Given the description of an element on the screen output the (x, y) to click on. 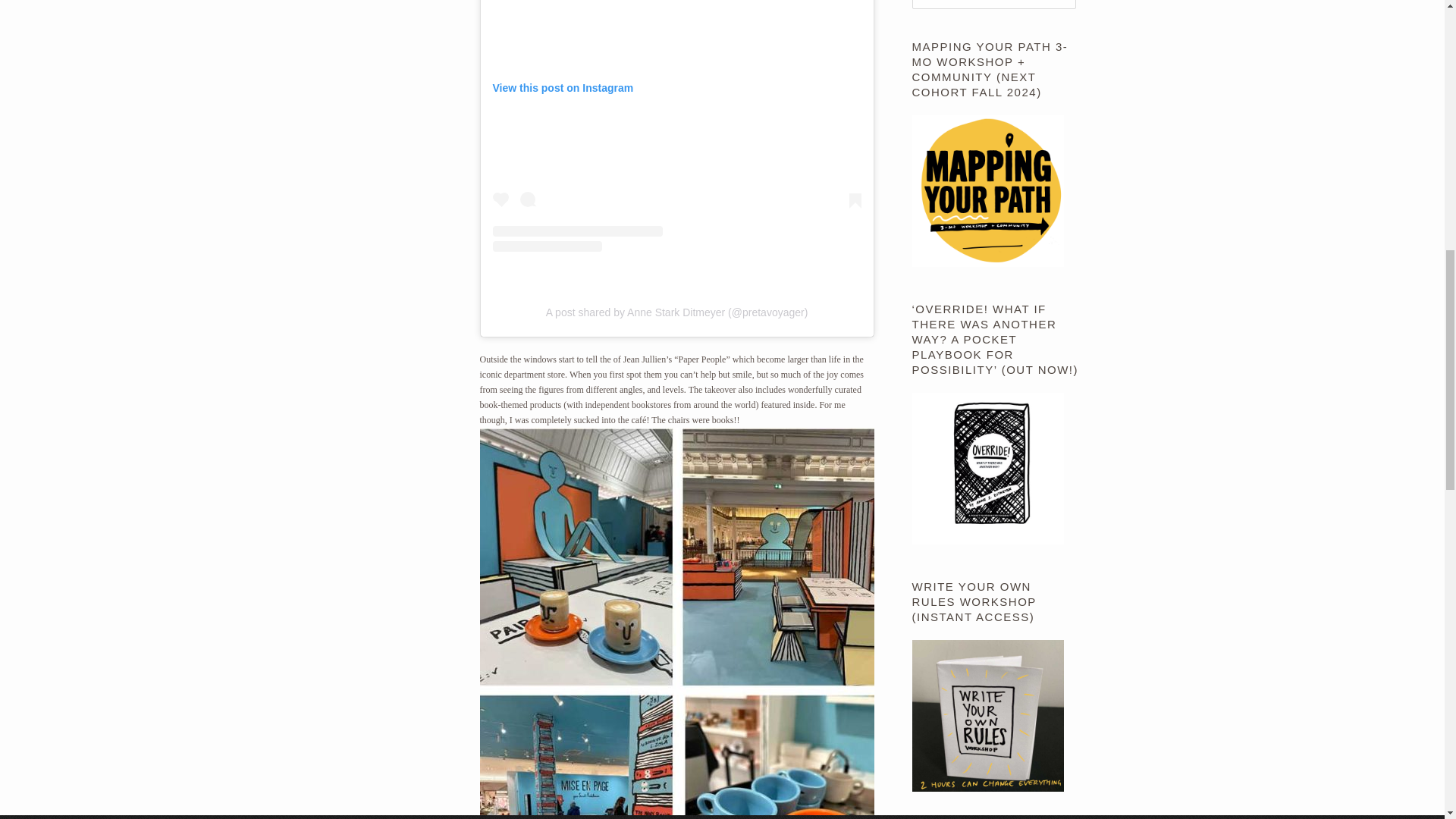
Search... (993, 4)
